Given the description of an element on the screen output the (x, y) to click on. 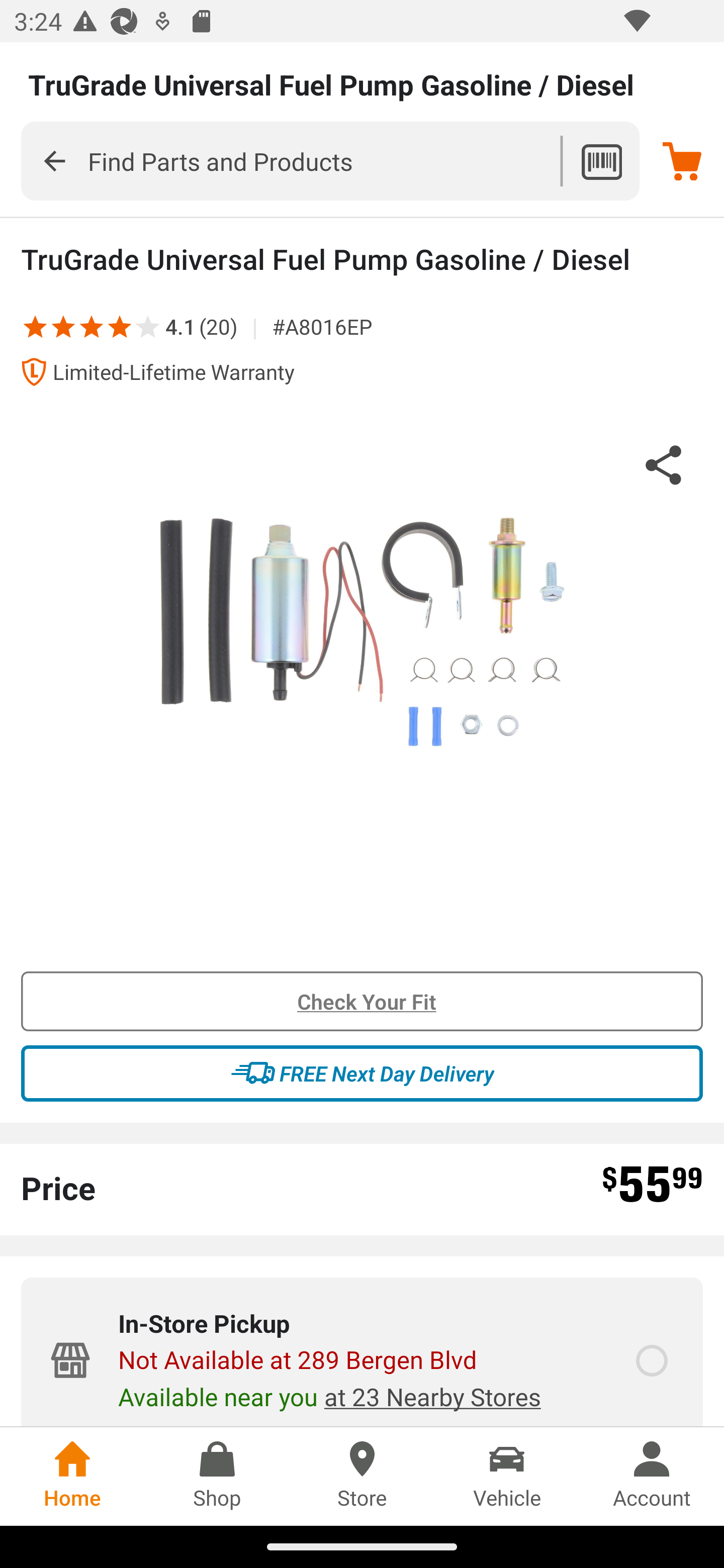
 scan-product-to-search  (601, 161)
 (54, 160)
Cart, no items  (681, 160)
 (34, 326)
 (63, 326)
 (91, 326)
 (119, 326)
 (134, 326)
share button (663, 468)
Check your fit Check Your Fit (361, 1001)
In-Store Pickup (651, 1360)
Home (72, 1475)
Shop (216, 1475)
Store (361, 1475)
Vehicle (506, 1475)
Account (651, 1475)
